Given the description of an element on the screen output the (x, y) to click on. 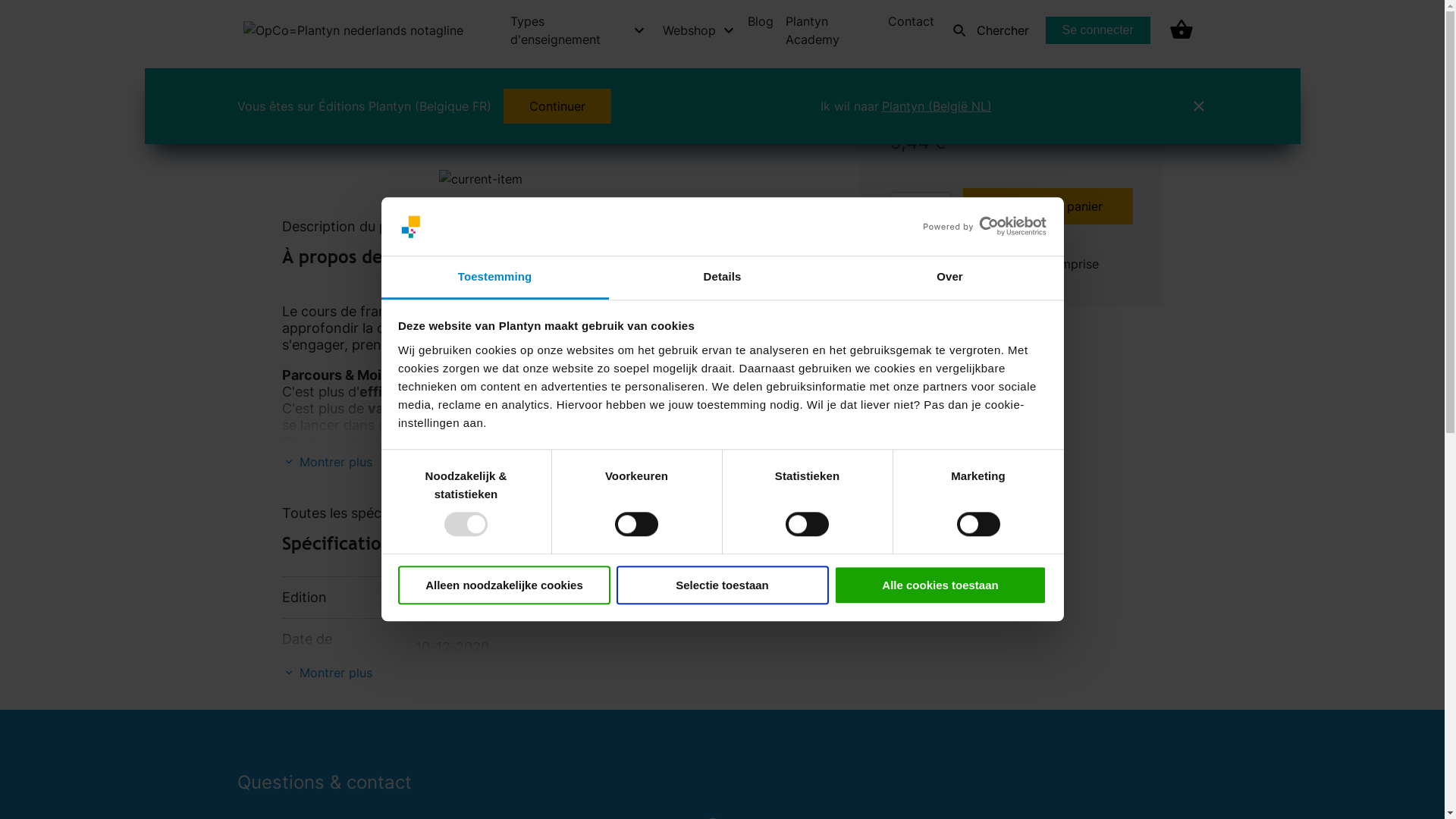
Dans le panier Element type: text (1047, 206)
OpCo=Plantyn nederlands notagline Element type: hover (353, 30)
Details Element type: text (721, 277)
Toestemming Element type: text (494, 277)
Contact Element type: text (910, 21)
Chercher Element type: text (986, 30)
Over Element type: text (949, 277)
Plantyn Academy Element type: text (830, 30)
Webshop Element type: text (280, 81)
Alle cookies toestaan Element type: text (940, 584)
Blog Element type: text (760, 21)
Se connecter Element type: text (1097, 29)
Continuer Element type: text (557, 105)
Alleen noodzakelijke cookies Element type: text (504, 584)
Parcours & moi Element type: text (607, 81)
Selectie toestaan Element type: text (721, 584)
Enseignement Secondaire Element type: text (401, 81)
